Given the description of an element on the screen output the (x, y) to click on. 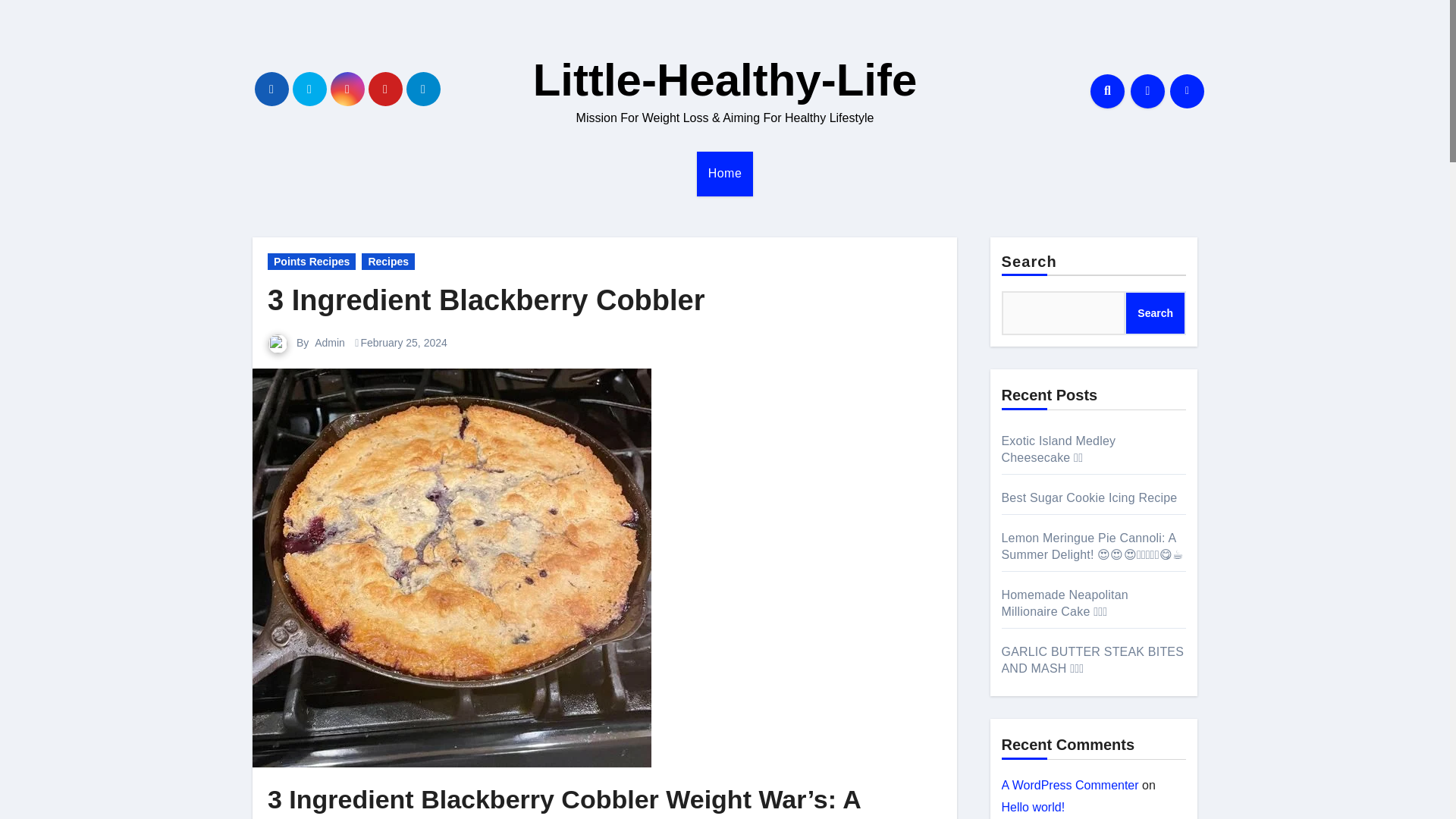
Little-Healthy-Life (724, 79)
February 25, 2024 (402, 342)
Permalink to: 3 Ingredient Blackberry Cobbler (485, 300)
Admin (329, 342)
Home (725, 173)
3 Ingredient Blackberry Cobbler (485, 300)
Recipes (387, 261)
Points Recipes (311, 261)
Home (725, 173)
